Given the description of an element on the screen output the (x, y) to click on. 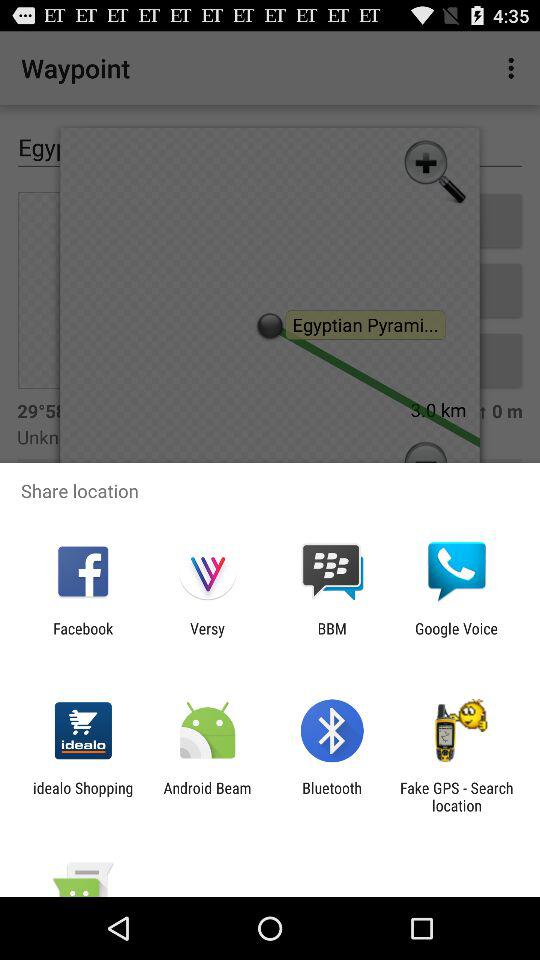
swipe until the idealo shopping app (83, 796)
